Given the description of an element on the screen output the (x, y) to click on. 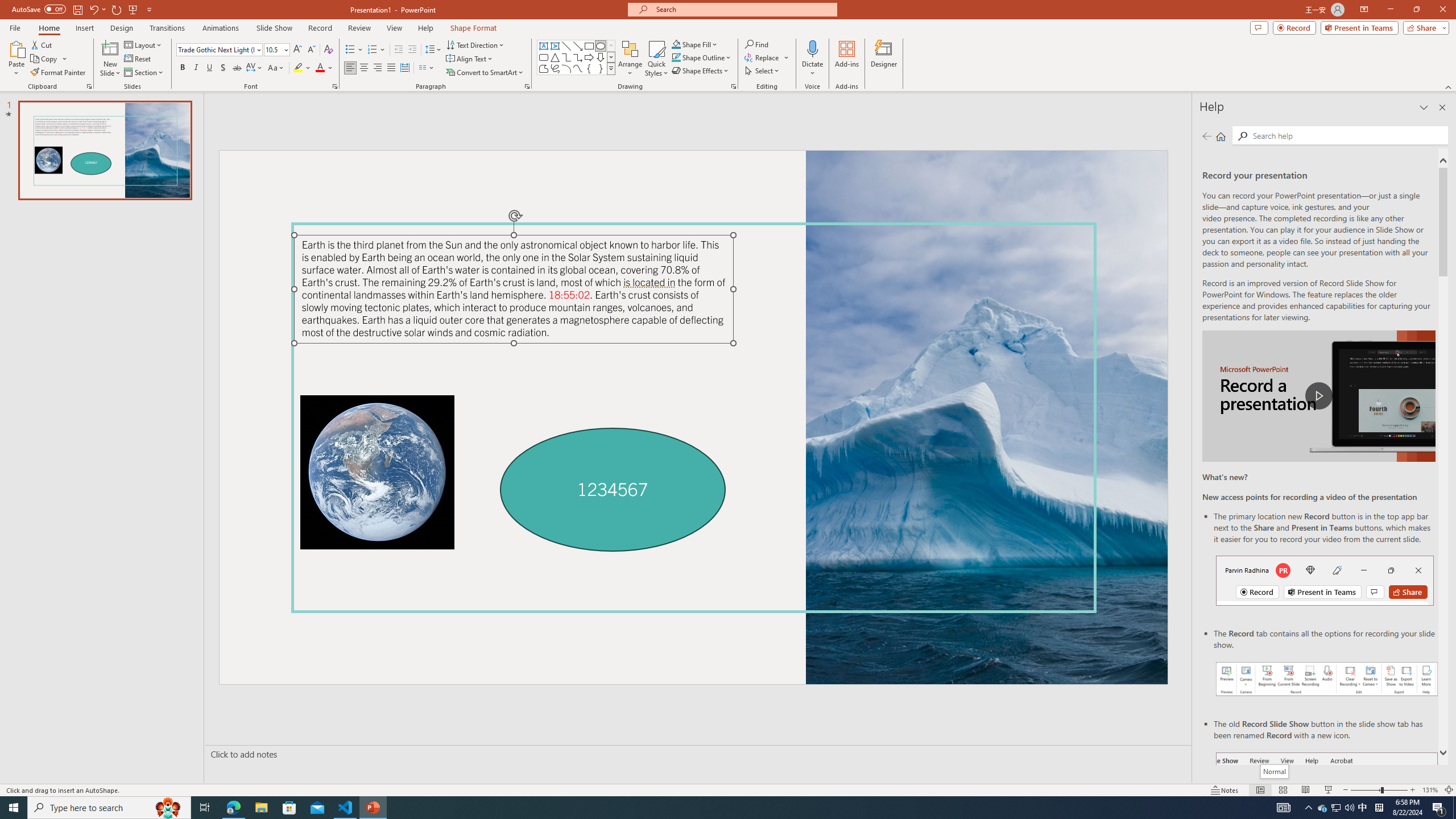
Record button in top bar (1324, 580)
